Given the description of an element on the screen output the (x, y) to click on. 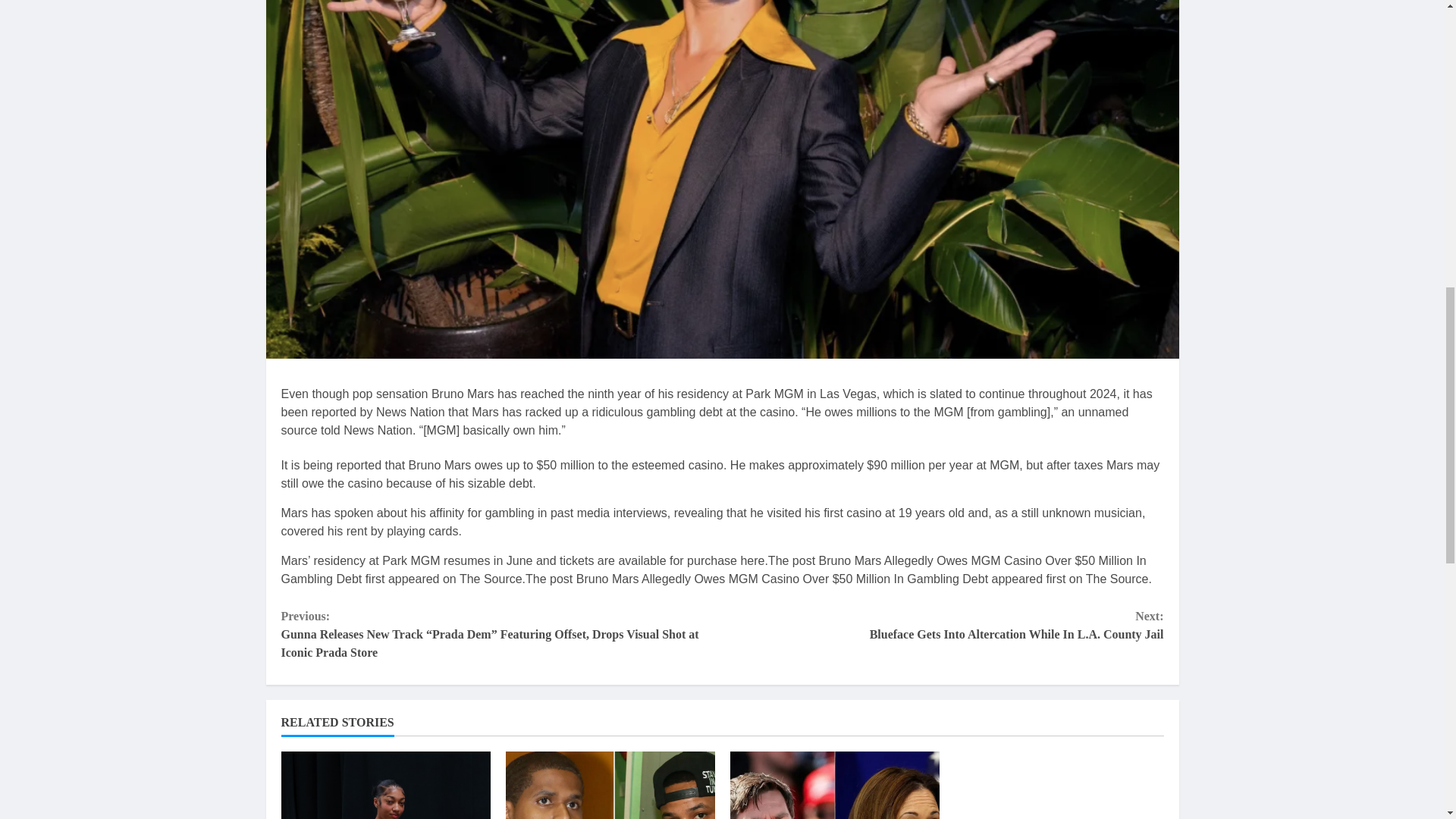
Angel Reese Teases Upcoming Reebok Collection Ahead of Game (385, 785)
Angel Reese Teases Upcoming Reebok Collection Ahead of Game (385, 785)
